Given the description of an element on the screen output the (x, y) to click on. 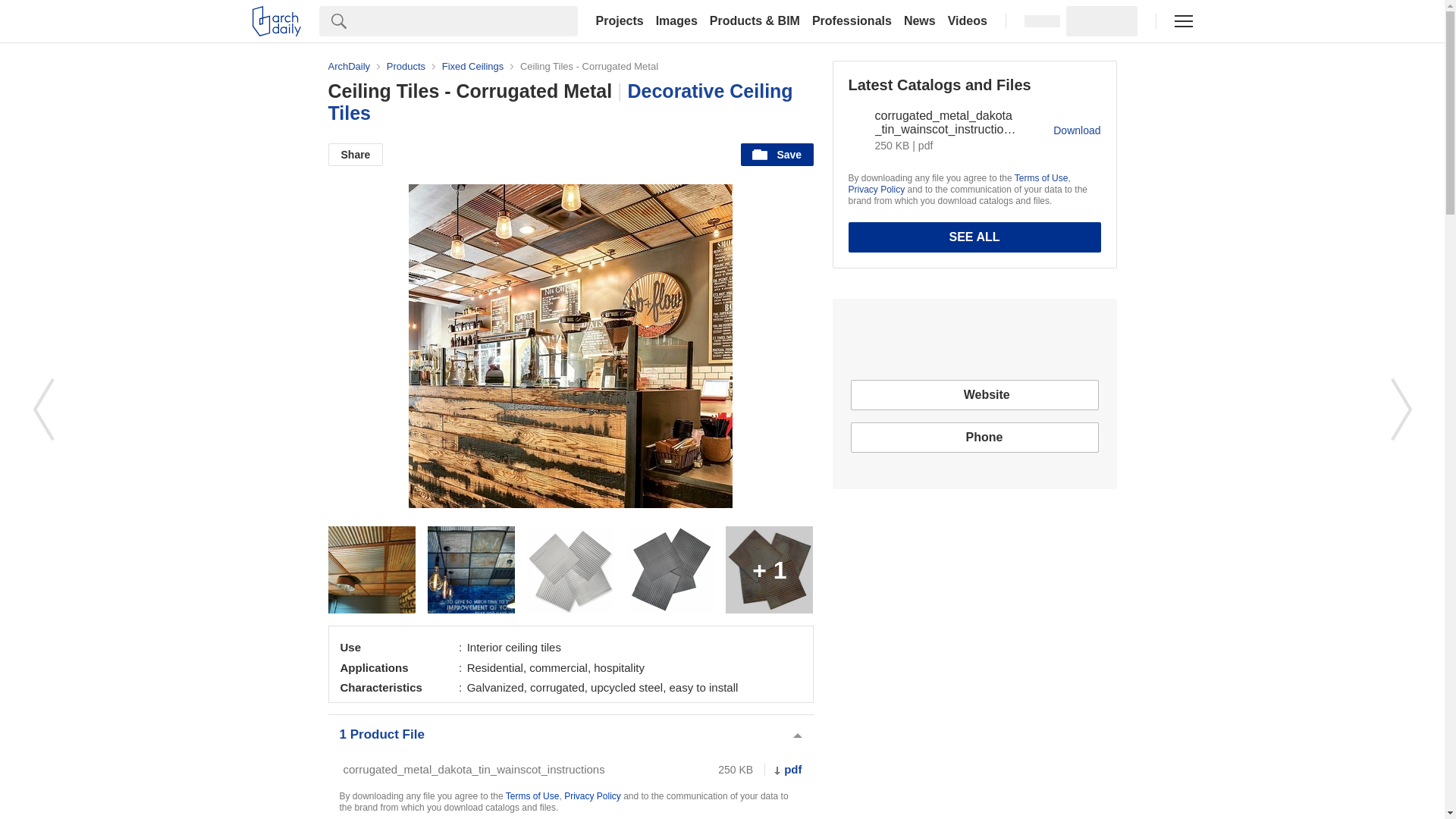
Professionals (852, 21)
Videos (967, 21)
News (920, 21)
Projects (619, 21)
Images (676, 21)
